Given the description of an element on the screen output the (x, y) to click on. 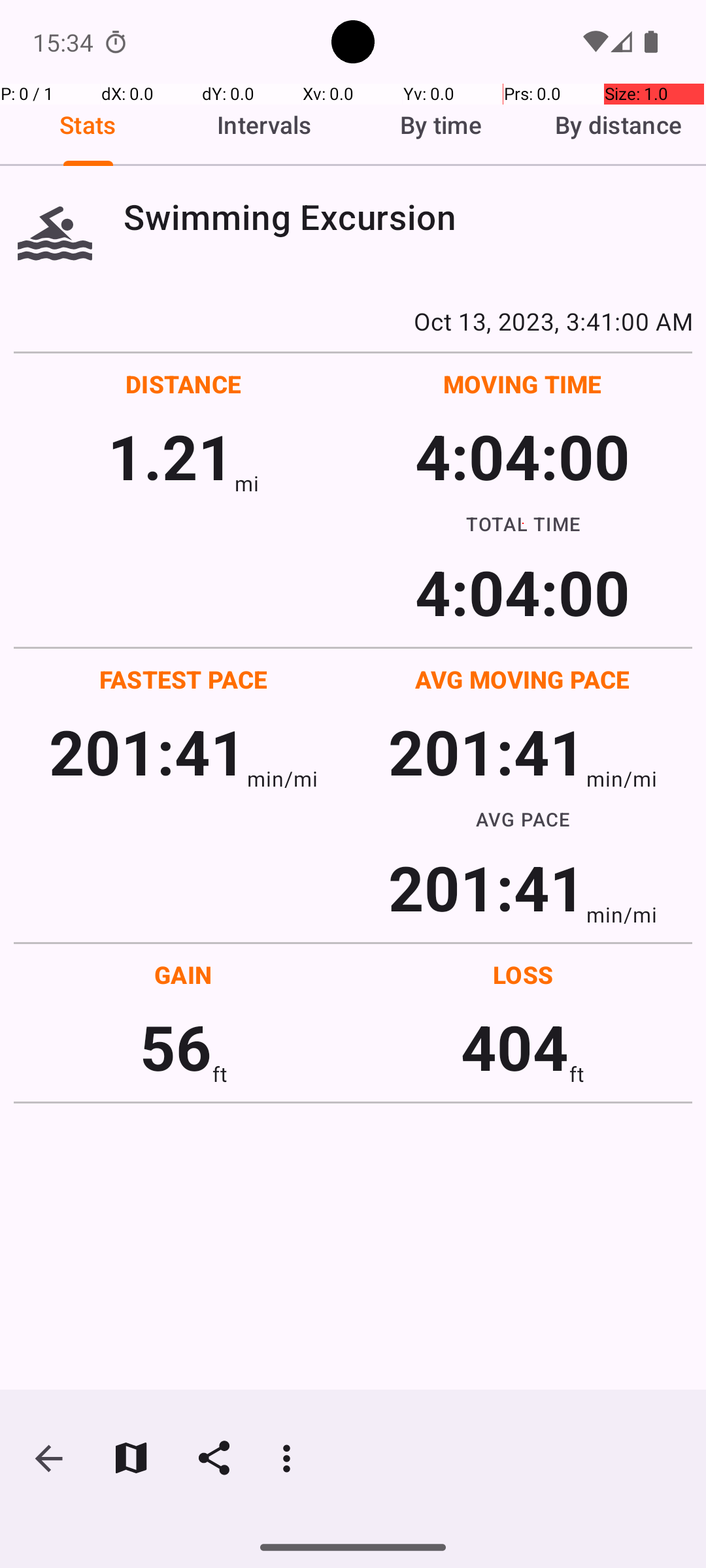
Swimming Excursion Element type: android.widget.TextView (407, 216)
Oct 13, 2023, 3:41:00 AM Element type: android.widget.TextView (352, 320)
1.21 Element type: android.widget.TextView (170, 455)
4:04:00 Element type: android.widget.TextView (522, 455)
201:41 Element type: android.widget.TextView (147, 750)
56 Element type: android.widget.TextView (175, 1045)
404 Element type: android.widget.TextView (514, 1045)
